Given the description of an element on the screen output the (x, y) to click on. 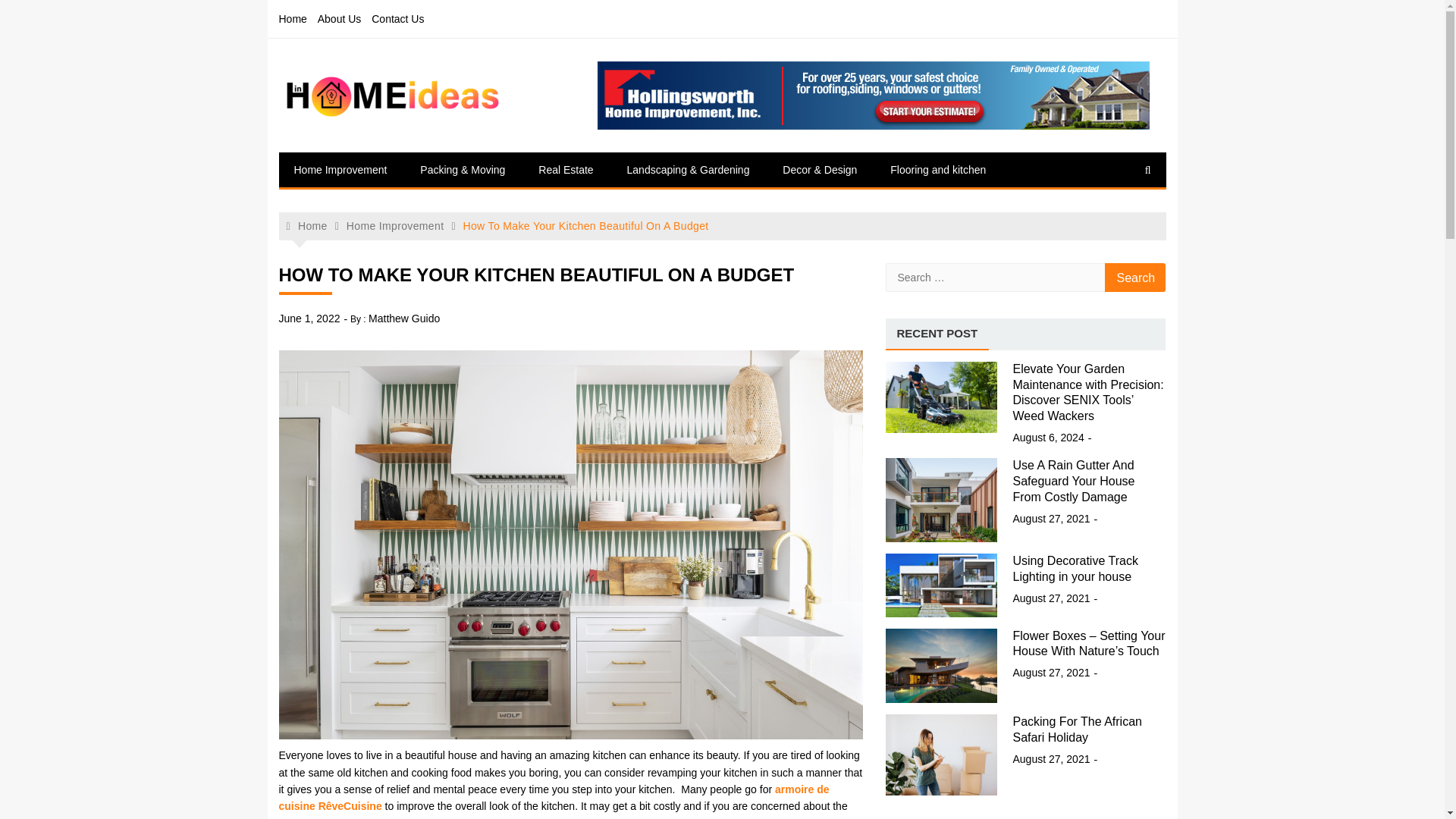
About Us (339, 18)
Flooring and kitchen (938, 169)
Search (1135, 276)
Real Estate (565, 169)
June 1, 2022 (309, 318)
Home Improvement (341, 169)
Home (306, 226)
Home (293, 18)
Search (1135, 276)
RECENT POST (937, 333)
